Given the description of an element on the screen output the (x, y) to click on. 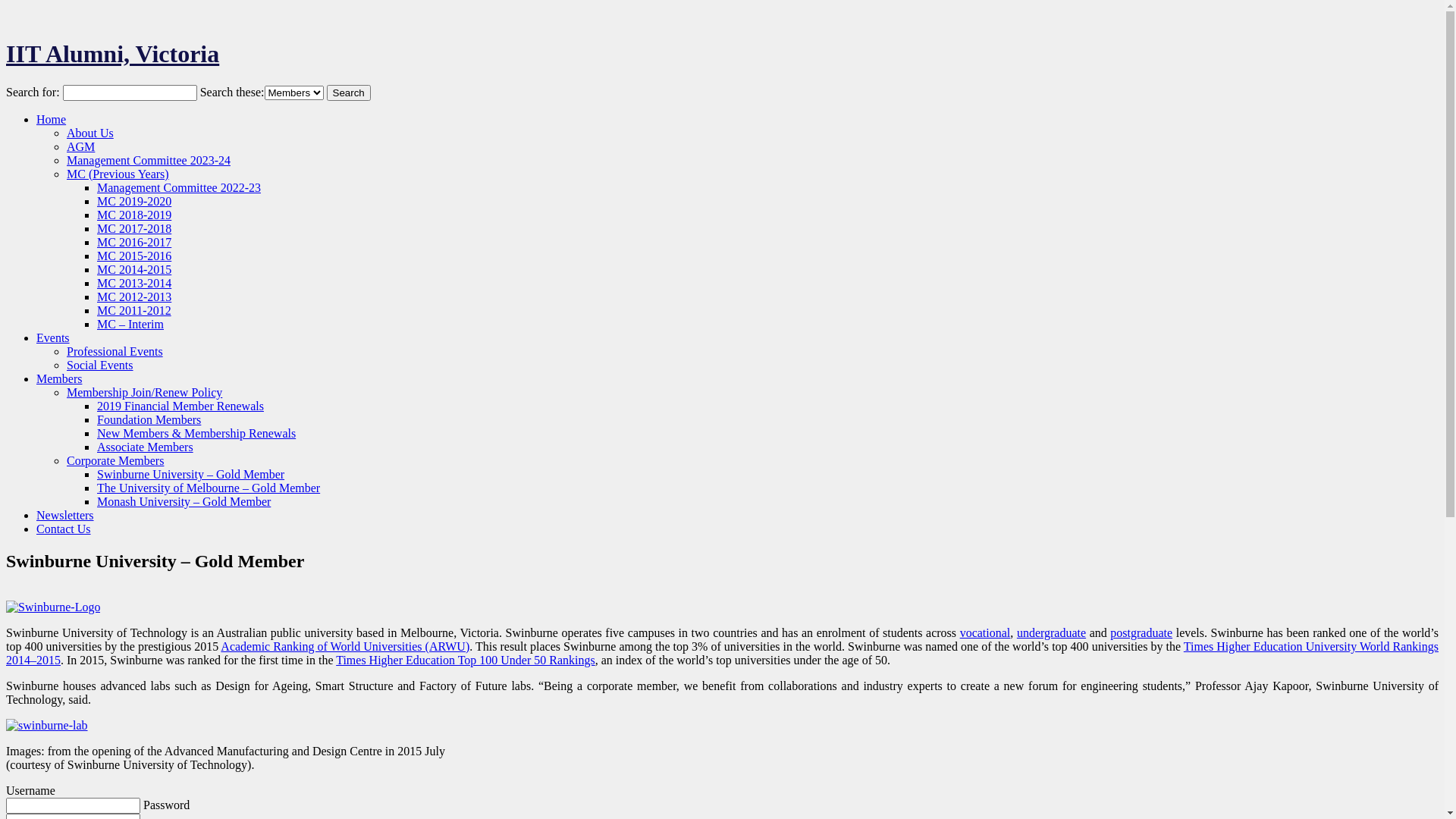
MC 2012-2013 Element type: text (134, 296)
vocational Element type: text (985, 632)
MC 2014-2015 Element type: text (134, 269)
New Members & Membership Renewals Element type: text (196, 432)
AGM Element type: text (80, 146)
MC 2018-2019 Element type: text (134, 214)
Times Higher Education Top 100 Under 50 Rankings Element type: text (465, 659)
2019 Financial Member Renewals Element type: text (180, 405)
Corporate Members Element type: text (114, 460)
MC 2016-2017 Element type: text (134, 241)
Academic Ranking of World Universities (ARWU) Element type: text (344, 646)
undergraduate Element type: text (1050, 632)
Home Element type: text (50, 118)
MC 2013-2014 Element type: text (134, 282)
MC 2019-2020 Element type: text (134, 200)
Foundation Members Element type: text (148, 419)
Membership Join/Renew Policy Element type: text (144, 391)
Associate Members Element type: text (145, 446)
IIT Alumni, Victoria Element type: text (112, 53)
Social Events Element type: text (99, 364)
Management Committee 2023-24 Element type: text (148, 159)
MC 2011-2012 Element type: text (134, 310)
Search Element type: text (348, 92)
About Us Element type: text (89, 132)
Management Committee 2022-23 Element type: text (178, 187)
MC 2017-2018 Element type: text (134, 228)
Contact Us Element type: text (63, 528)
Members Element type: text (58, 378)
MC 2015-2016 Element type: text (134, 255)
Professional Events Element type: text (114, 351)
MC (Previous Years) Element type: text (117, 173)
postgraduate Element type: text (1141, 632)
Events Element type: text (52, 337)
Newsletters Element type: text (65, 514)
